Given the description of an element on the screen output the (x, y) to click on. 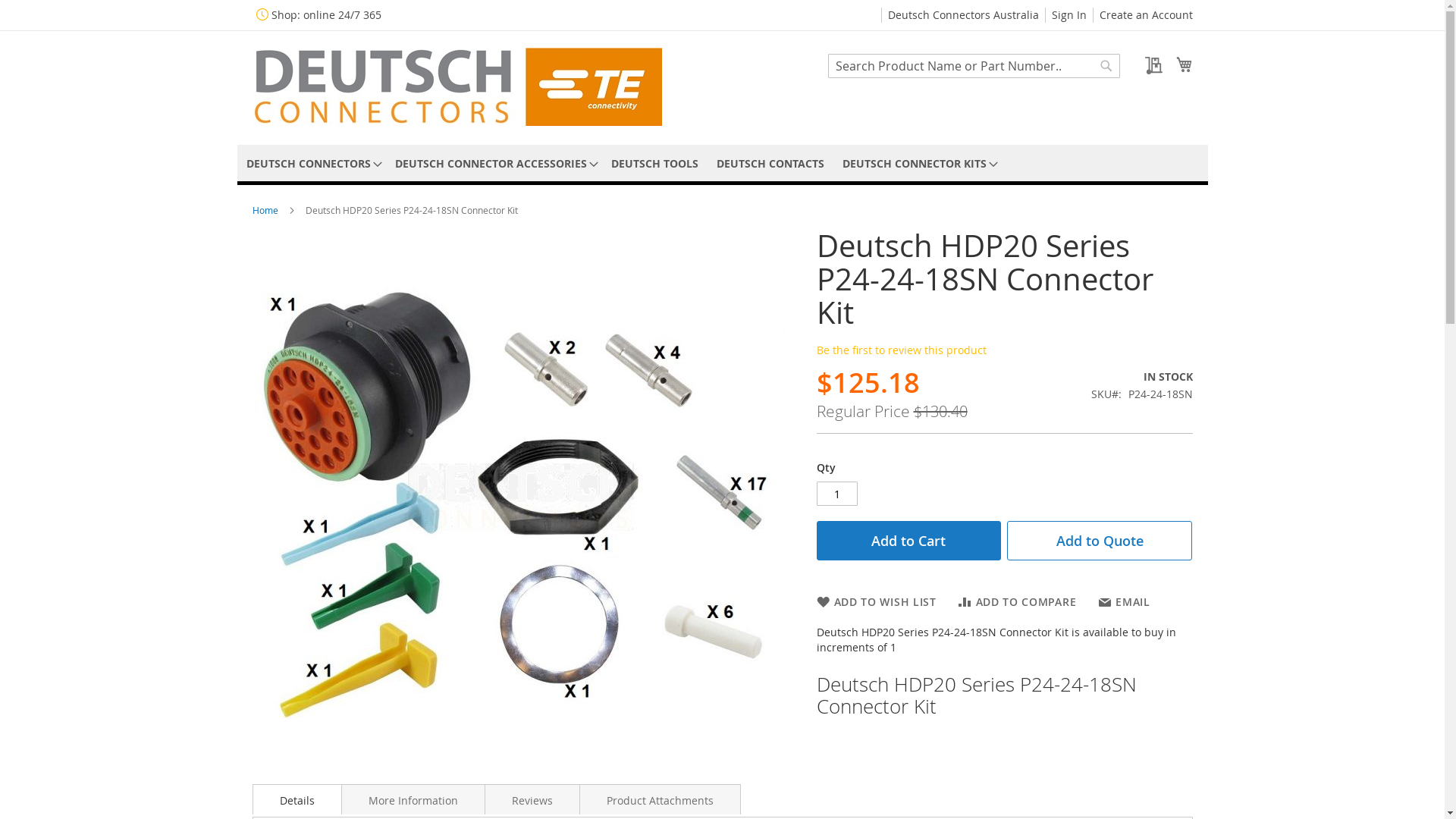
DEUTSCH CONTACTS Element type: text (769, 163)
DEUTSCH CONNECTOR KITS Element type: text (916, 163)
DEUTSCH CONNECTOR ACCESSORIES Element type: text (493, 163)
Skip to Content Element type: text (380, 6)
Add to Cart Element type: text (907, 540)
Skip to the end of the images gallery Element type: text (251, 228)
DEUTSCH CONNECTORS Element type: text (310, 163)
Skip to the beginning of the images gallery Element type: text (251, 764)
Qty Element type: hover (835, 493)
ADD TO WISH LIST Element type: text (875, 601)
More Information Element type: text (413, 799)
Product Attachments Element type: text (659, 799)
Genuine TE Deutsch Connectors Supplied Worldwide Element type: hover (456, 86)
Reviews Element type: text (531, 799)
Sign In Element type: text (1068, 14)
My Quote Element type: text (1147, 64)
Details Element type: text (296, 799)
DEUTSCH TOOLS Element type: text (654, 163)
Create an Account Element type: text (1145, 14)
ADD TO COMPARE Element type: text (1017, 601)
EMAIL Element type: text (1124, 601)
Search Element type: text (1105, 65)
My Cart Element type: text (1183, 64)
Home Element type: text (264, 209)
Add to Quote Element type: text (1099, 540)
Be the first to review this product Element type: text (900, 349)
